Given the description of an element on the screen output the (x, y) to click on. 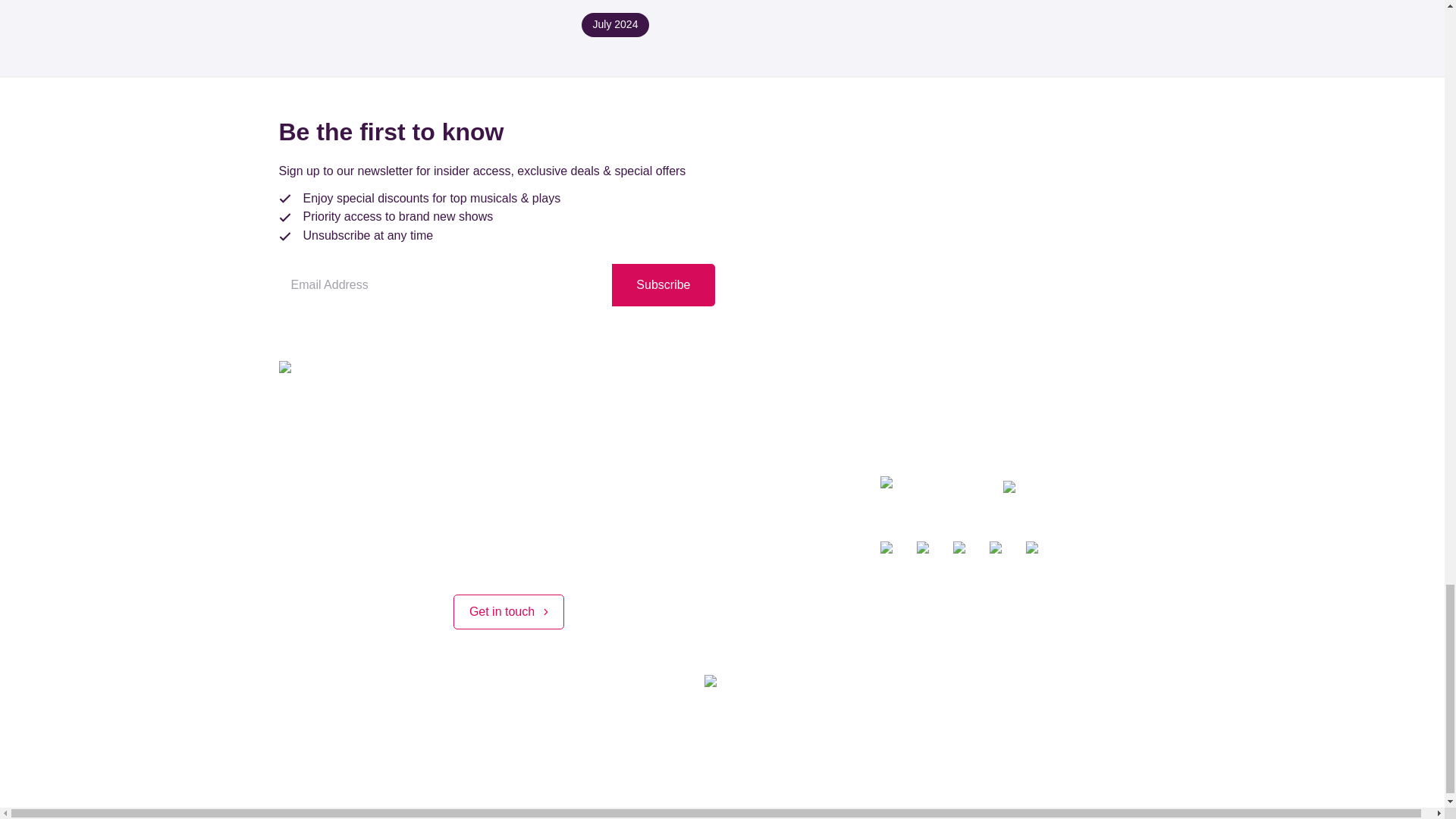
Trafalgar Theatre (927, 742)
Monday 2024 (614, 24)
Trafalgar Entertainment (533, 742)
Trafalgar Releasing (804, 742)
Stagecoach Theatre (674, 742)
